Given the description of an element on the screen output the (x, y) to click on. 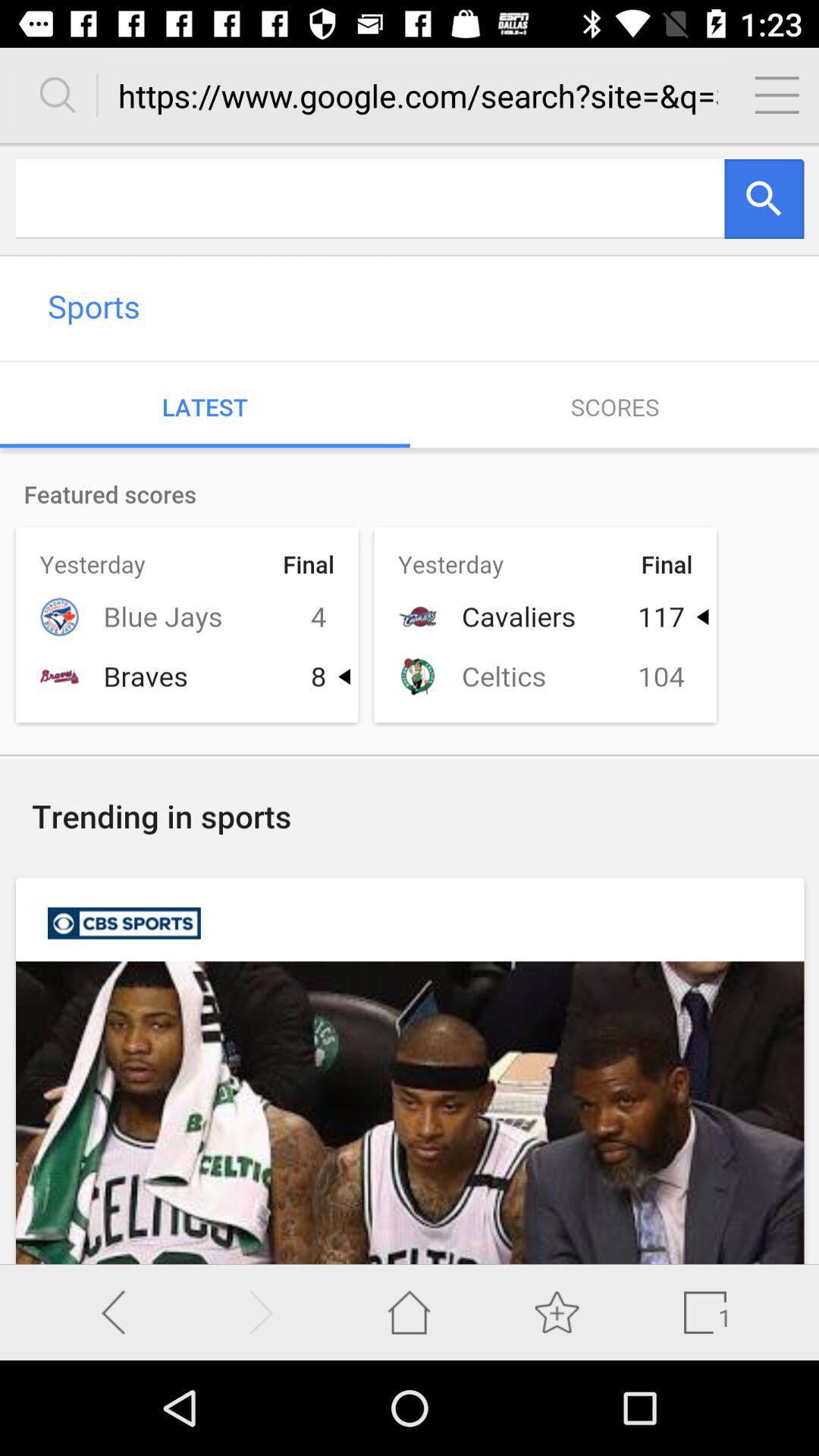
click on menu bar (777, 95)
